Given the description of an element on the screen output the (x, y) to click on. 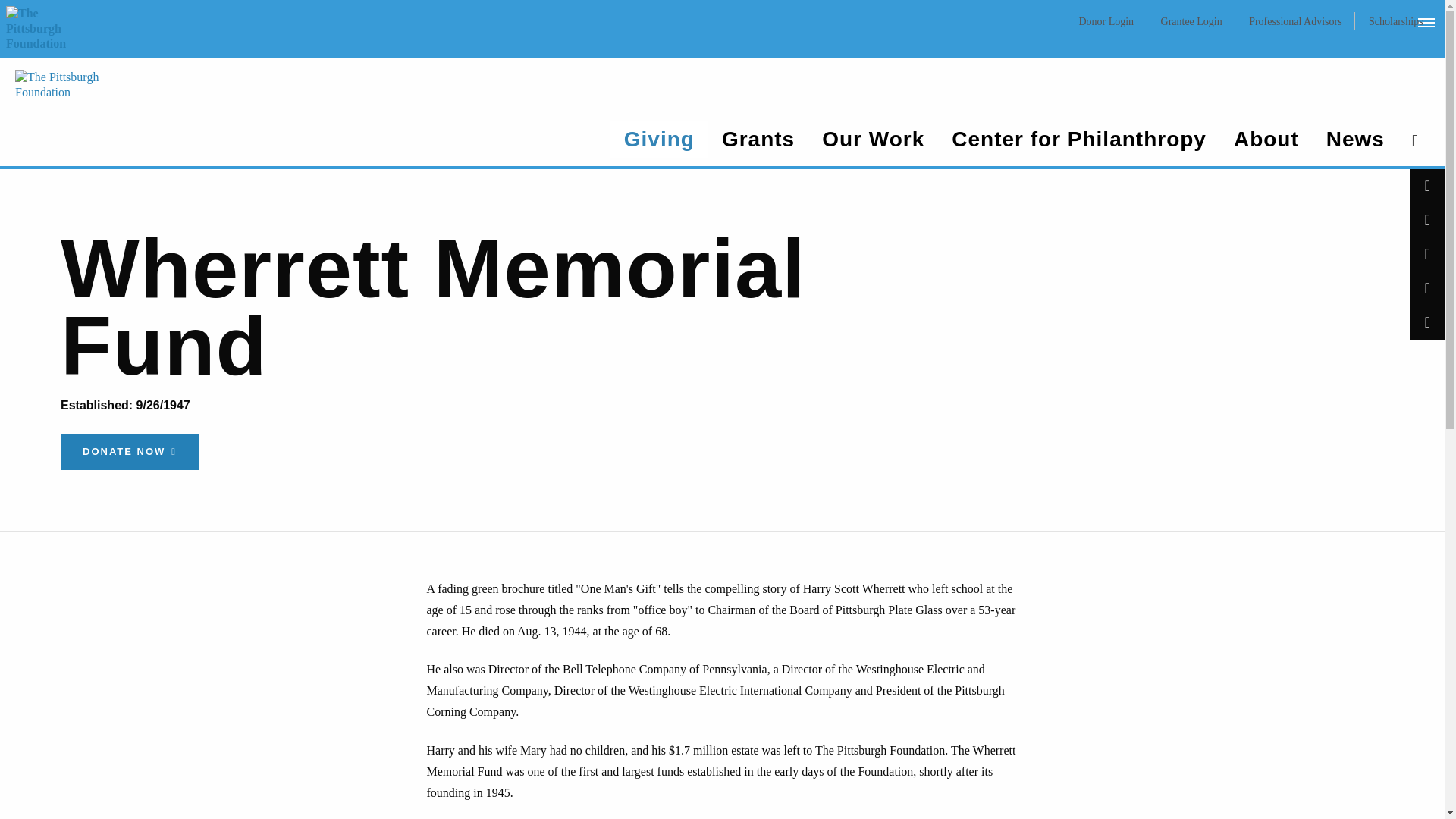
Our Work (872, 139)
Giving (658, 139)
Center for Philanthropy (1078, 139)
Grants (757, 139)
About (1266, 139)
News (1355, 139)
